Given the description of an element on the screen output the (x, y) to click on. 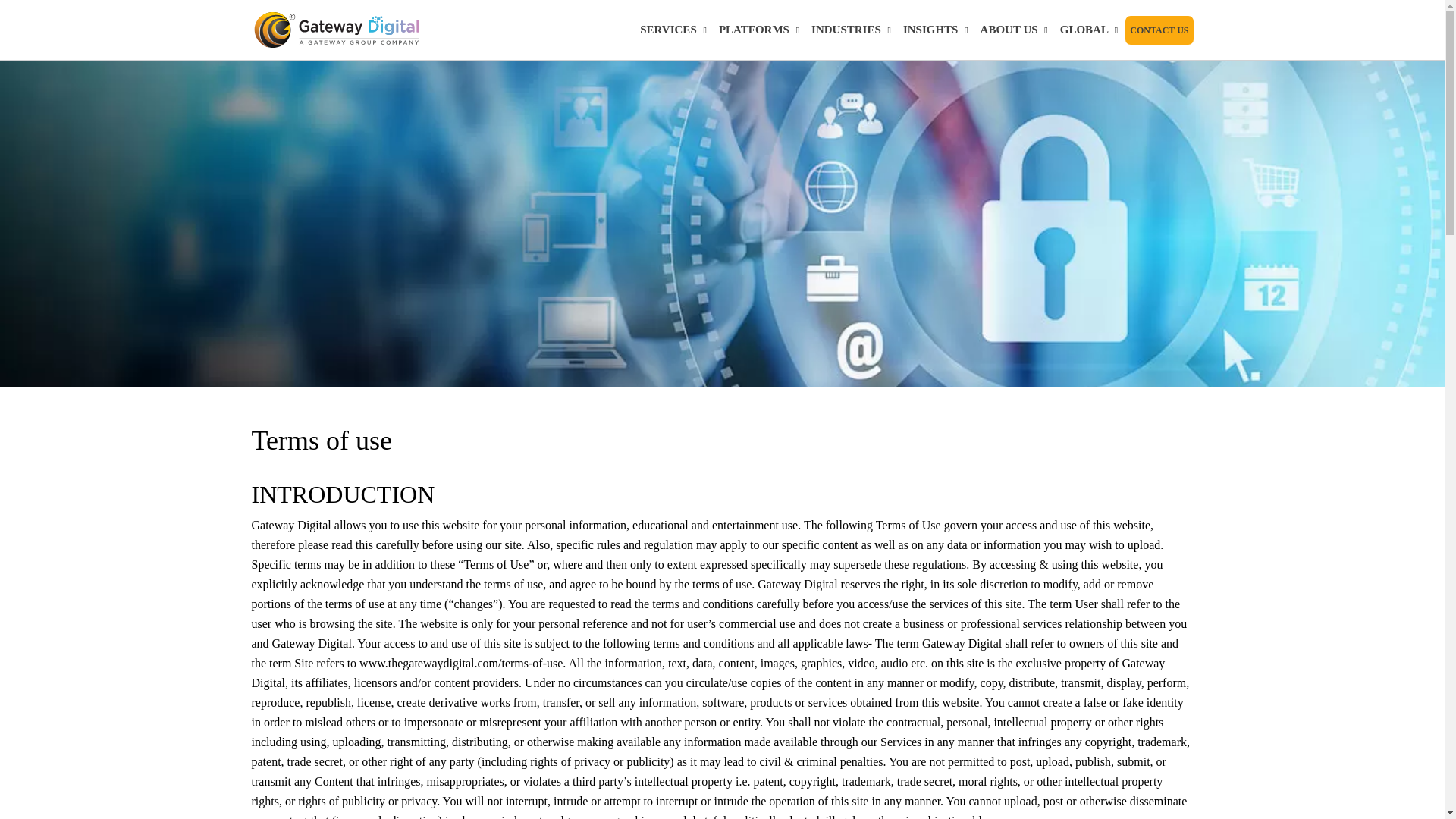
SERVICES (672, 29)
